Given the description of an element on the screen output the (x, y) to click on. 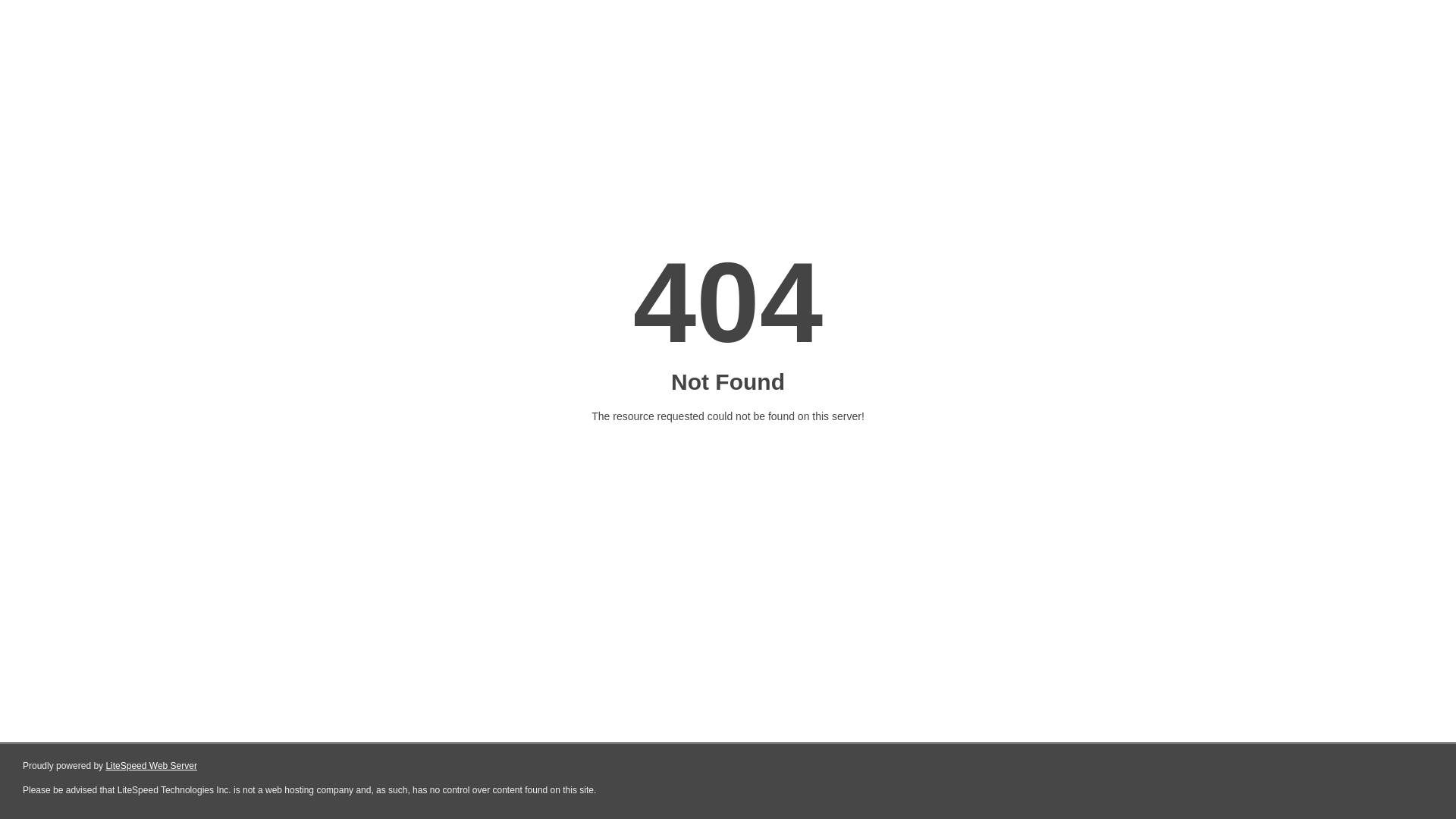
LiteSpeed Web Server Element type: text (151, 765)
